Given the description of an element on the screen output the (x, y) to click on. 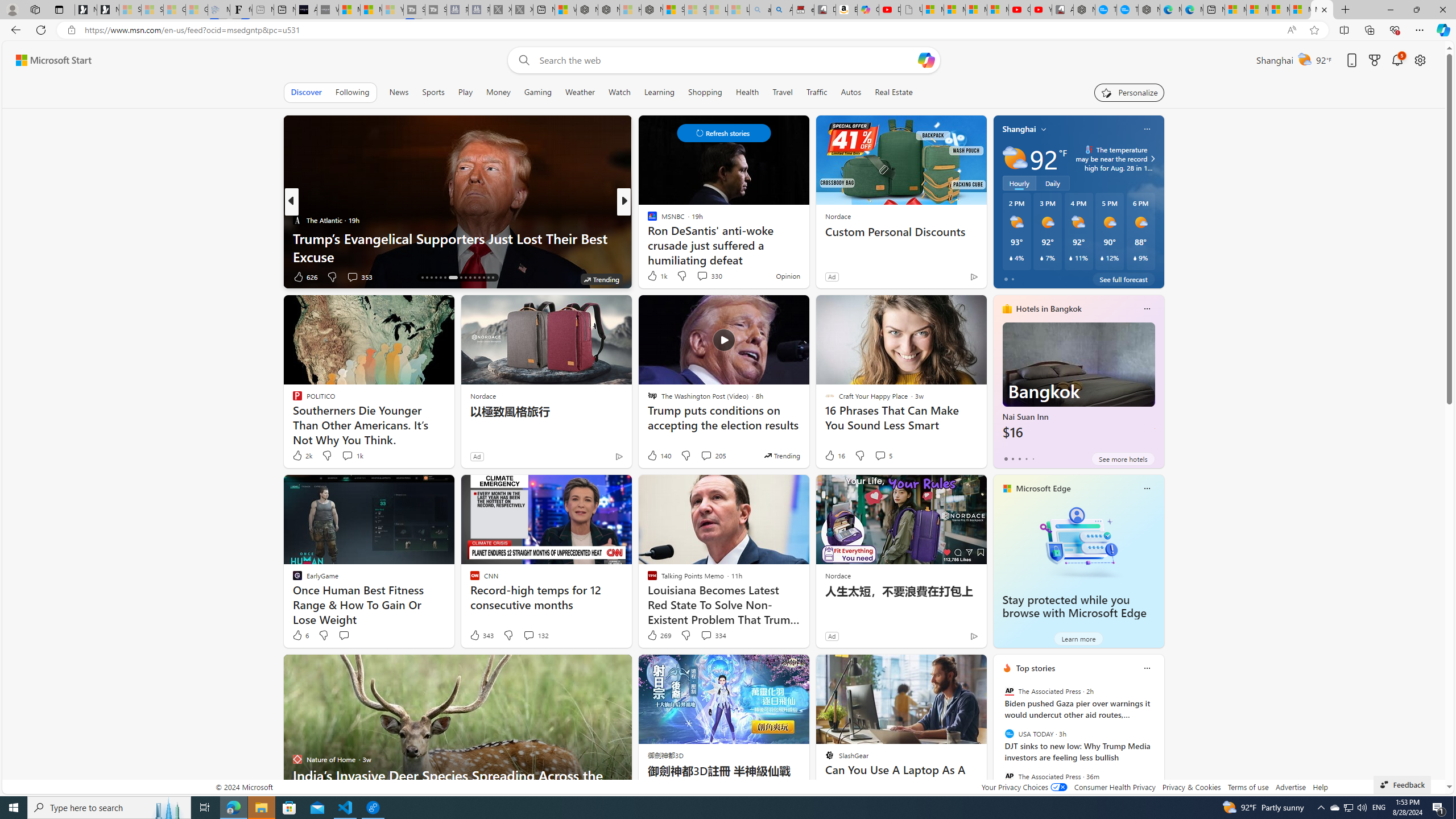
Play (465, 92)
next (1158, 741)
View comments 1 Comment (702, 276)
See more hotels (1123, 459)
8 Like (651, 276)
Following (352, 92)
Sports (432, 92)
Class: icon-img (1146, 668)
343 Like (480, 634)
